Given the description of an element on the screen output the (x, y) to click on. 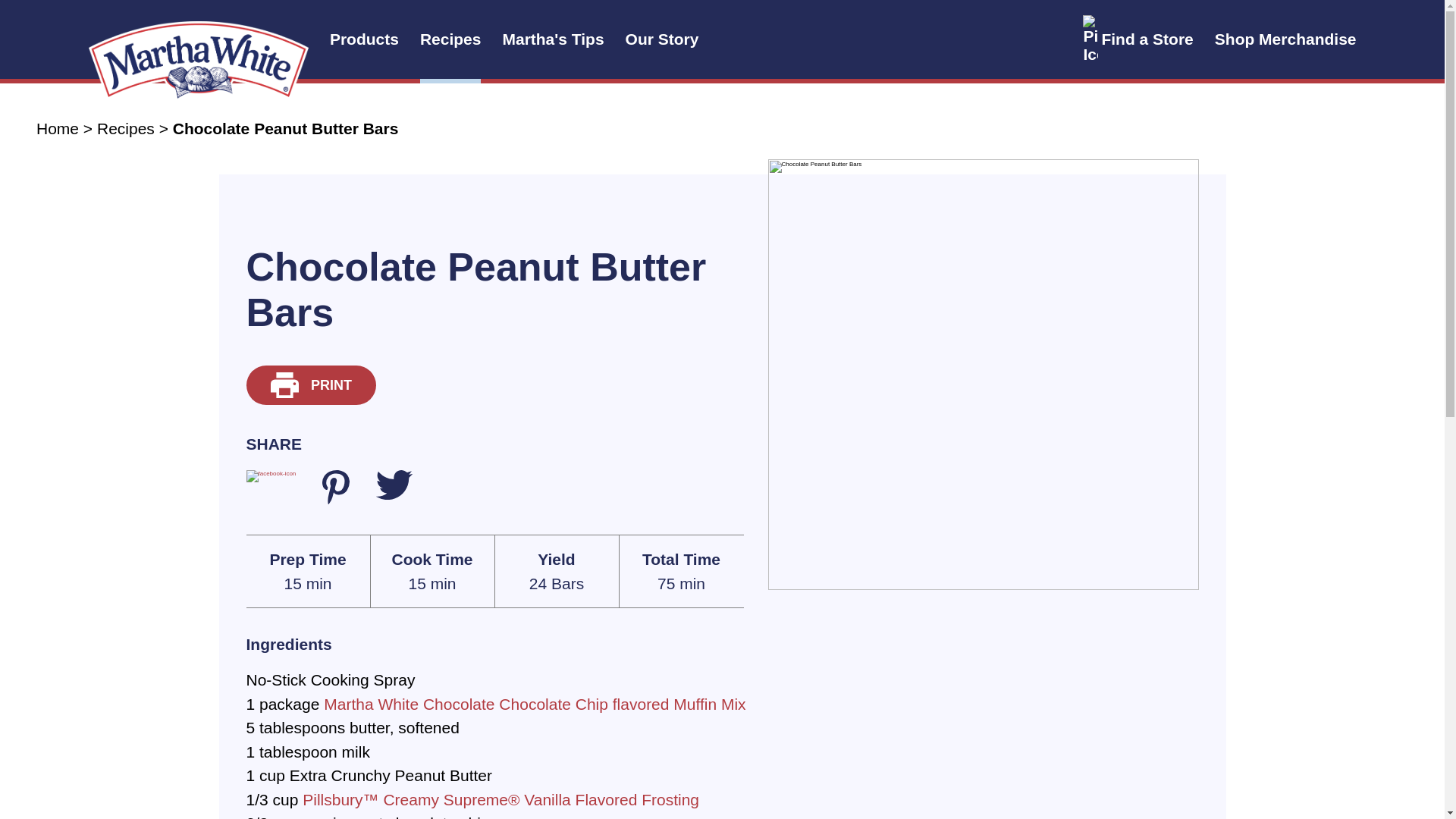
Martha's Tips (553, 39)
Shop Merchandise (1285, 39)
Our Story (662, 39)
Recipes (450, 39)
Home (57, 128)
PRINT (310, 385)
Products (364, 39)
Find a Store (1137, 39)
Recipes (125, 128)
